Given the description of an element on the screen output the (x, y) to click on. 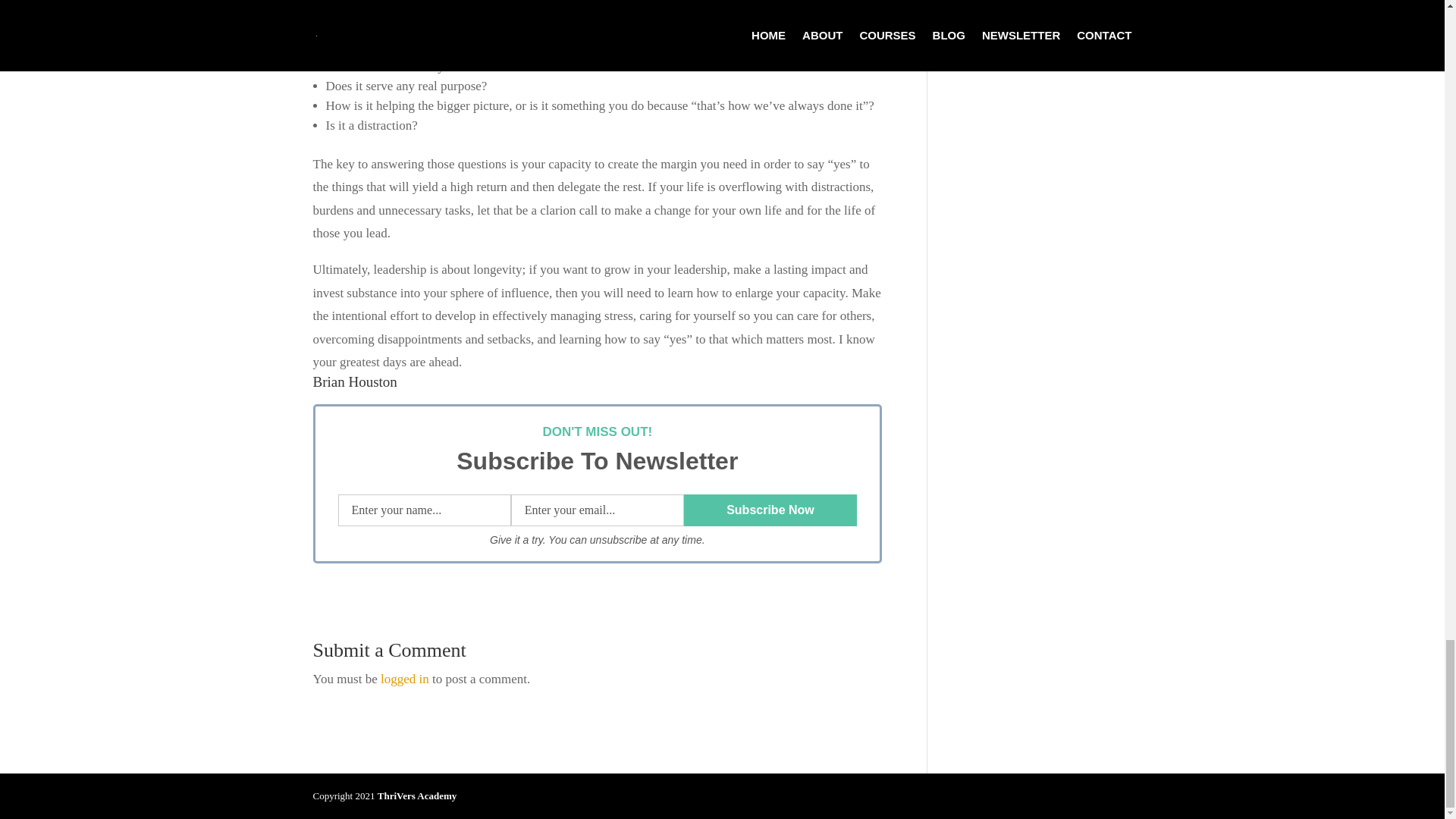
logged in (404, 678)
Subscribe Now (770, 510)
Subscribe Now (770, 510)
Brian Houston (354, 381)
ThriVers Academy (417, 795)
